Given the description of an element on the screen output the (x, y) to click on. 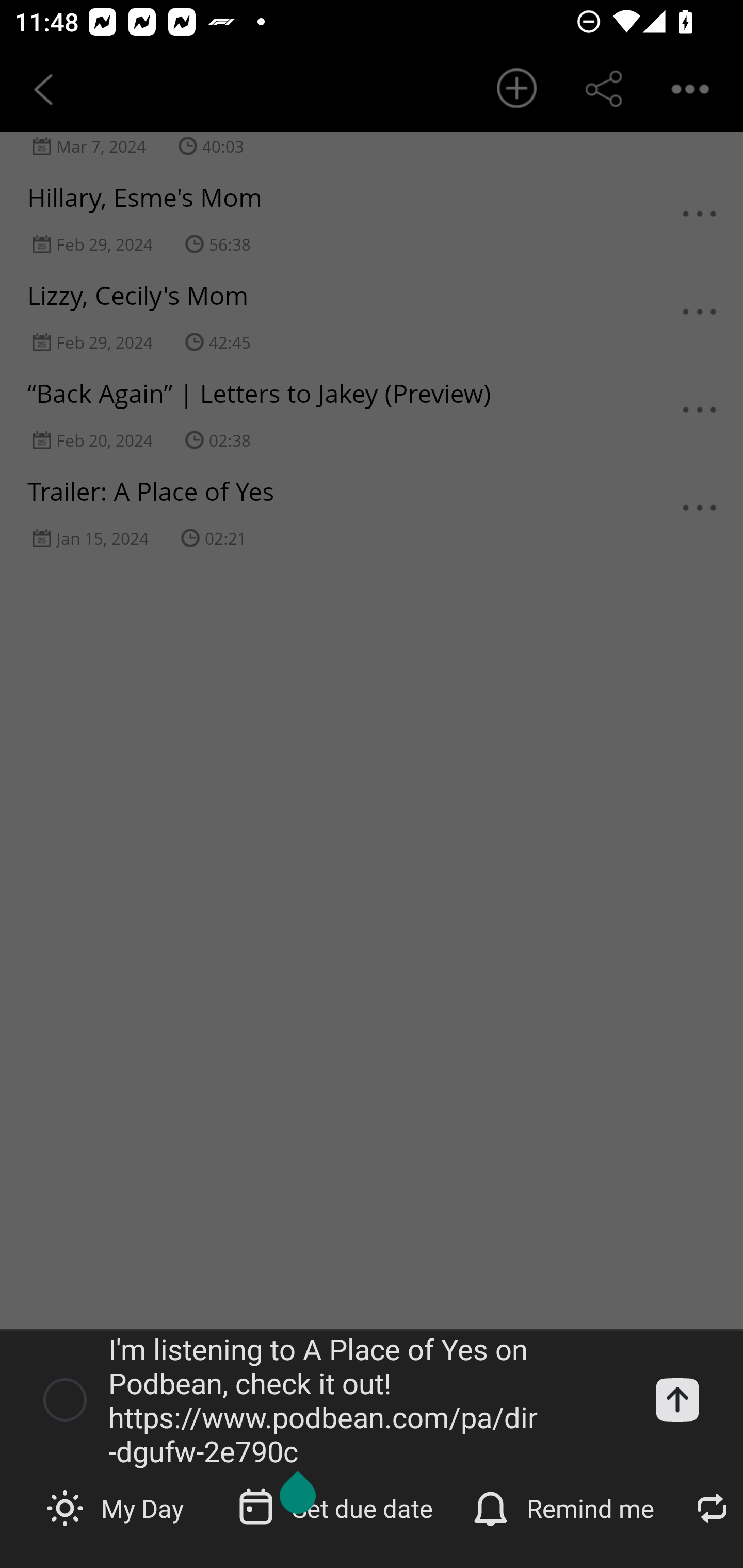
Add a task (676, 1399)
My Day (116, 1507)
Set due date (337, 1507)
Remind me (565, 1507)
